Given the description of an element on the screen output the (x, y) to click on. 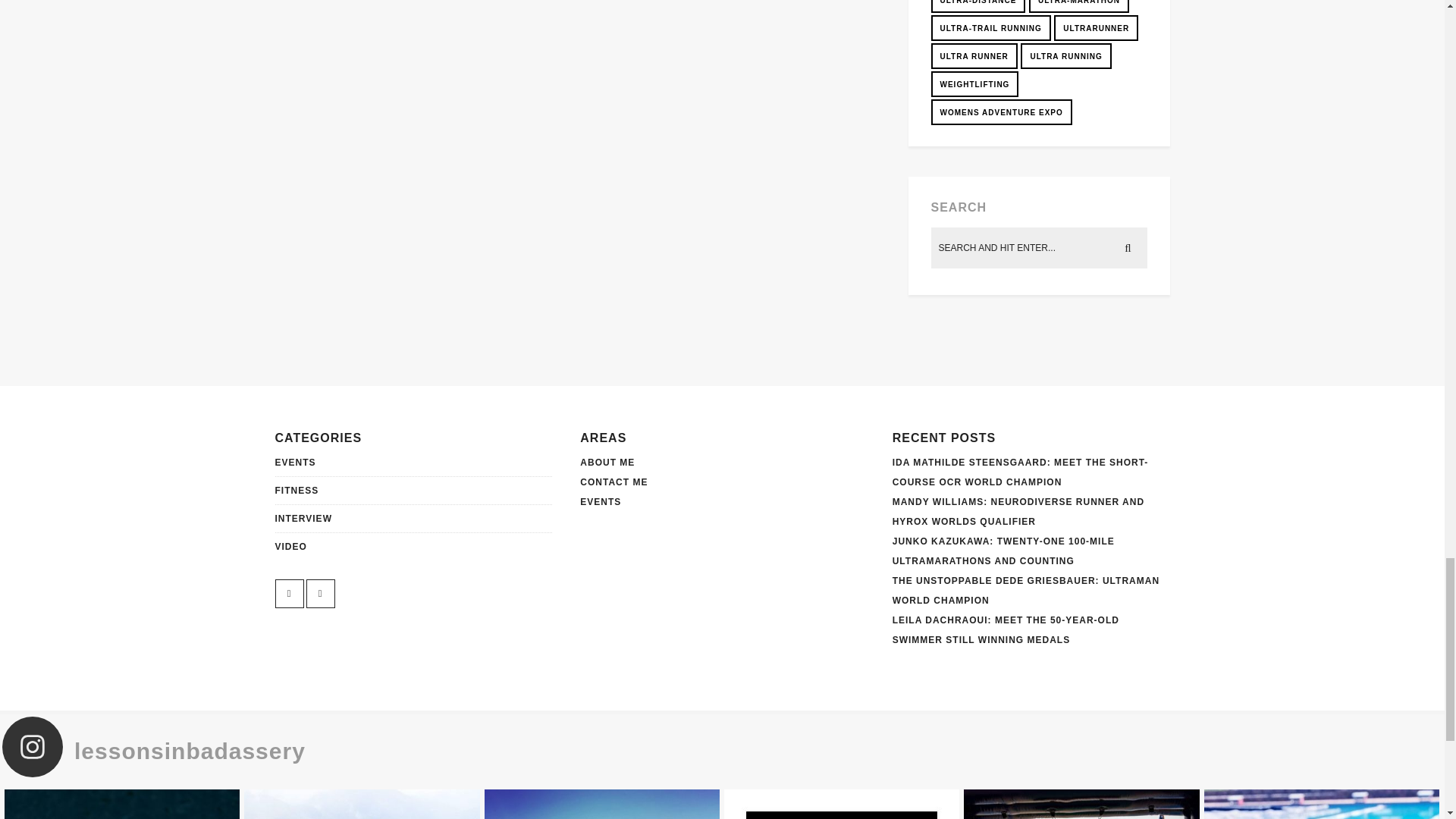
Search and hit enter... (1039, 247)
